Given the description of an element on the screen output the (x, y) to click on. 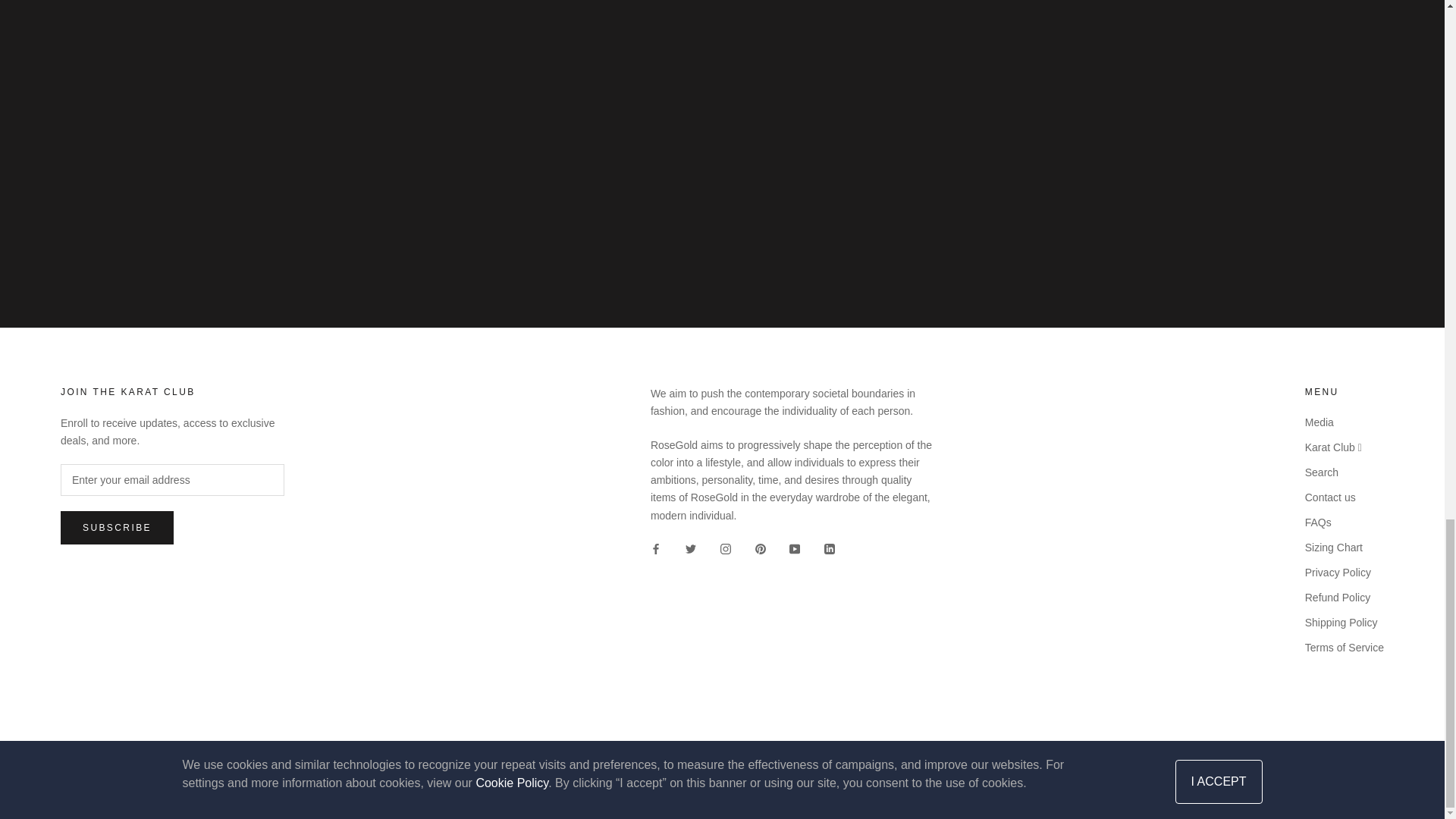
Mastercard (1205, 768)
Visa (1369, 768)
Meta Pay (1123, 768)
Apple Pay (1000, 768)
American Express (959, 768)
Shop Pay (1286, 768)
Venmo (1328, 768)
Google Pay (1164, 768)
PayPal (1245, 768)
Diners Club (1042, 768)
